Given the description of an element on the screen output the (x, y) to click on. 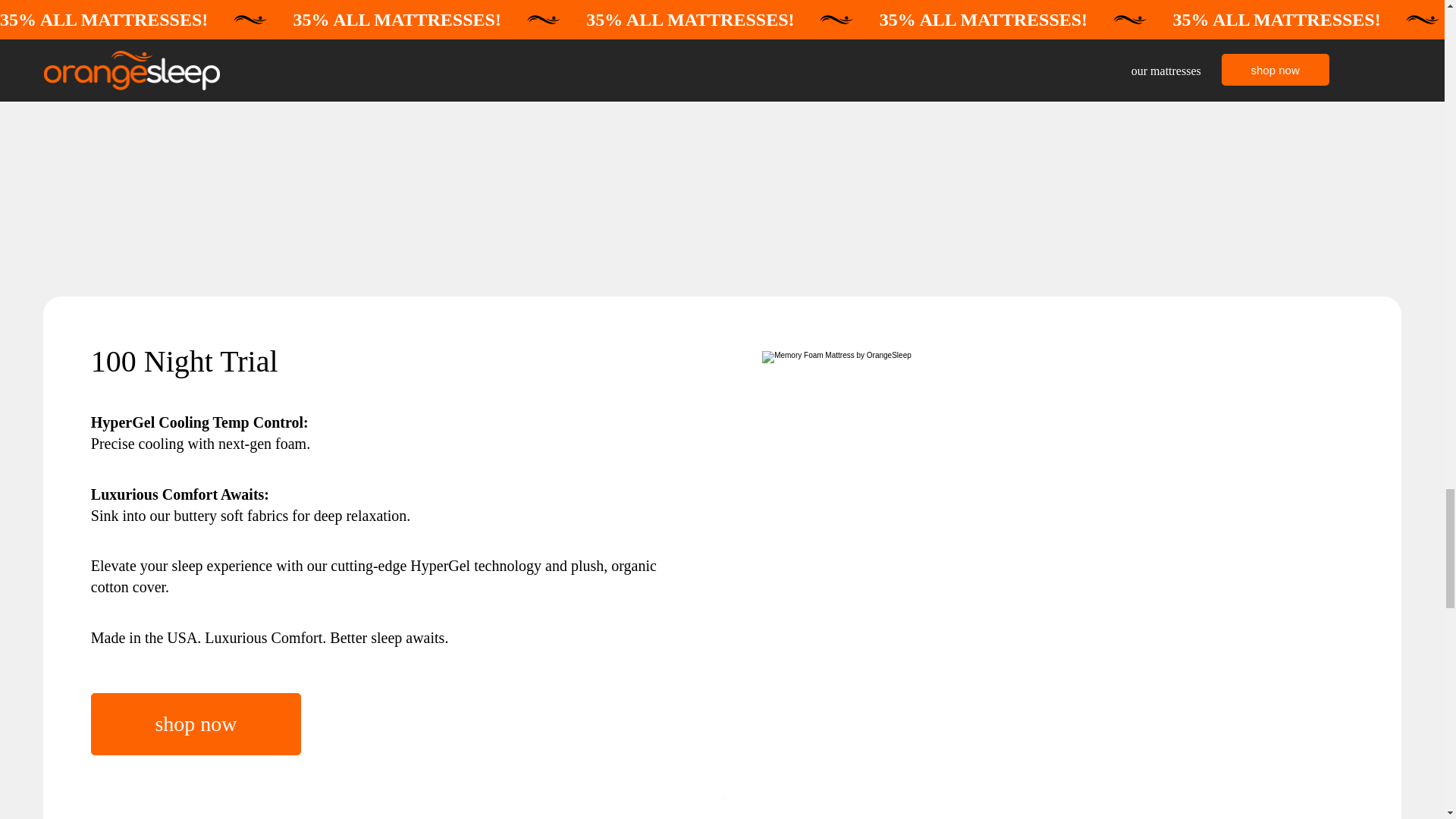
shop now (195, 723)
